Given the description of an element on the screen output the (x, y) to click on. 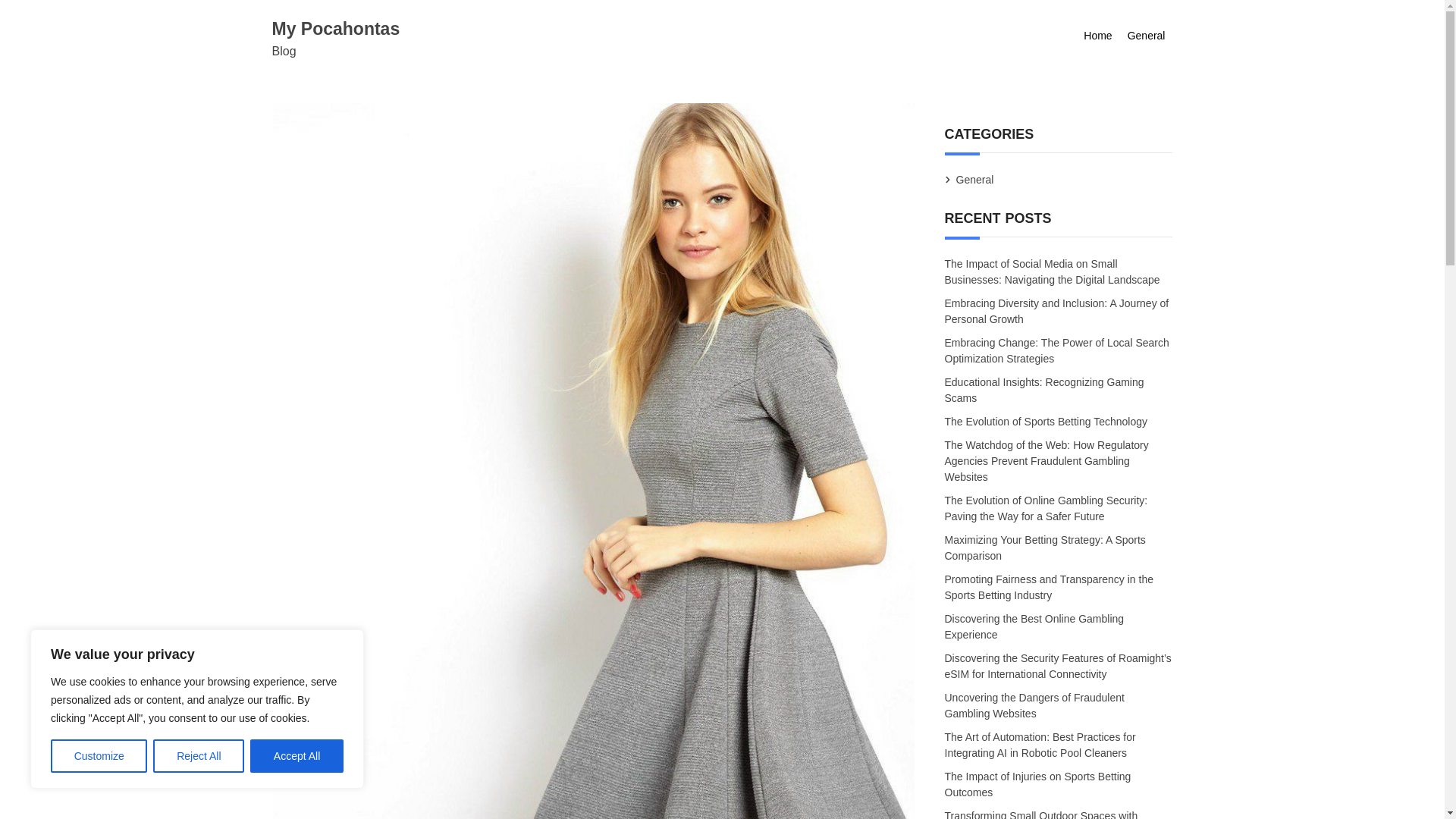
General (974, 179)
My Pocahontas (334, 28)
Educational Insights: Recognizing Gaming Scams (1044, 390)
General (1146, 35)
Maximizing Your Betting Strategy: A Sports Comparison (1044, 548)
Reject All (198, 756)
The Evolution of Sports Betting Technology (1046, 422)
Accept All (296, 756)
Home (1097, 35)
